Given the description of an element on the screen output the (x, y) to click on. 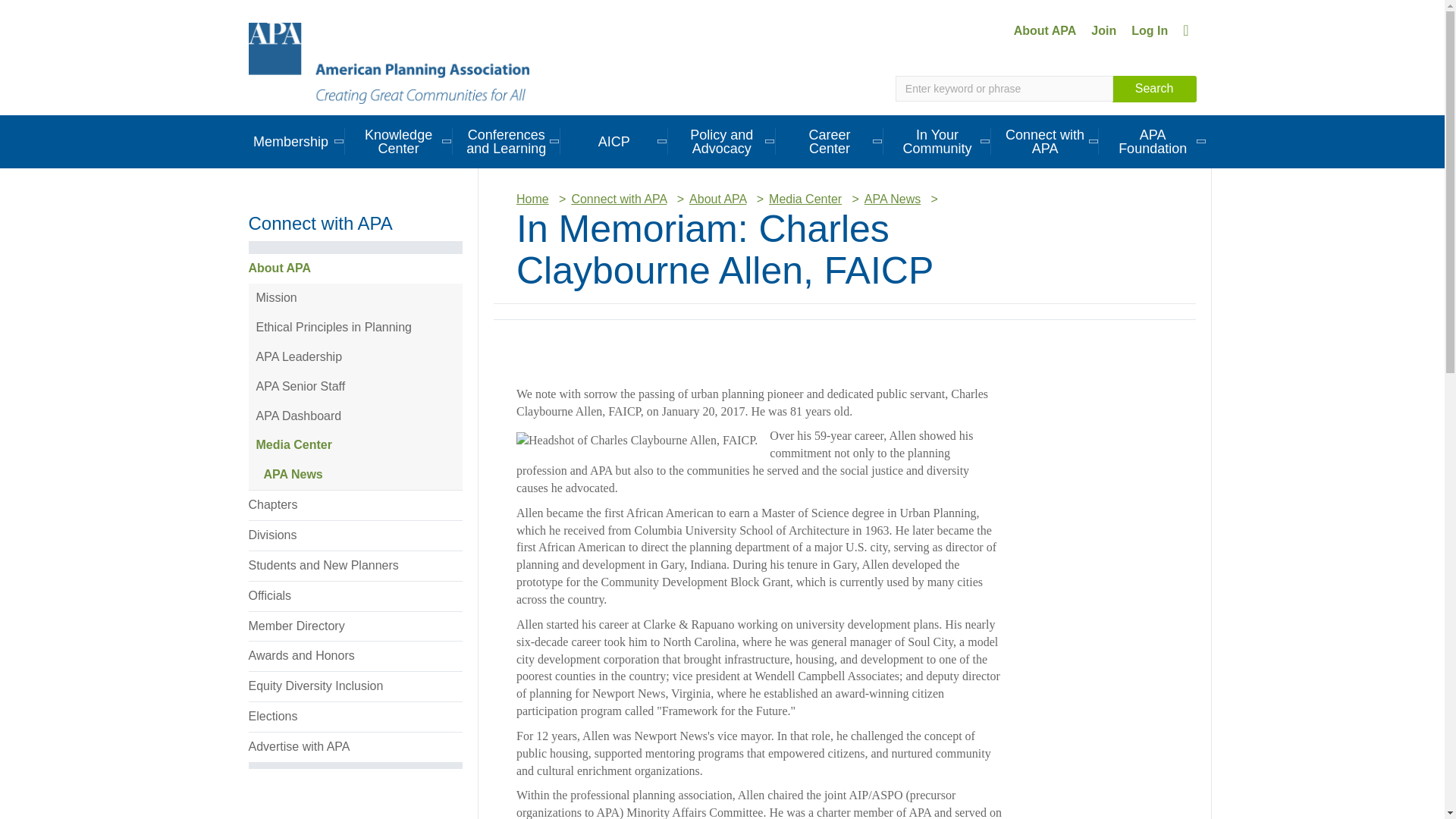
About APA (1045, 30)
Log In (1149, 30)
Career Center (829, 141)
In Your Community (937, 141)
Join (1103, 30)
Policy and Advocacy (722, 141)
Membership (289, 141)
Connect with APA (1045, 141)
APA Home (388, 62)
About APA (1045, 30)
